Given the description of an element on the screen output the (x, y) to click on. 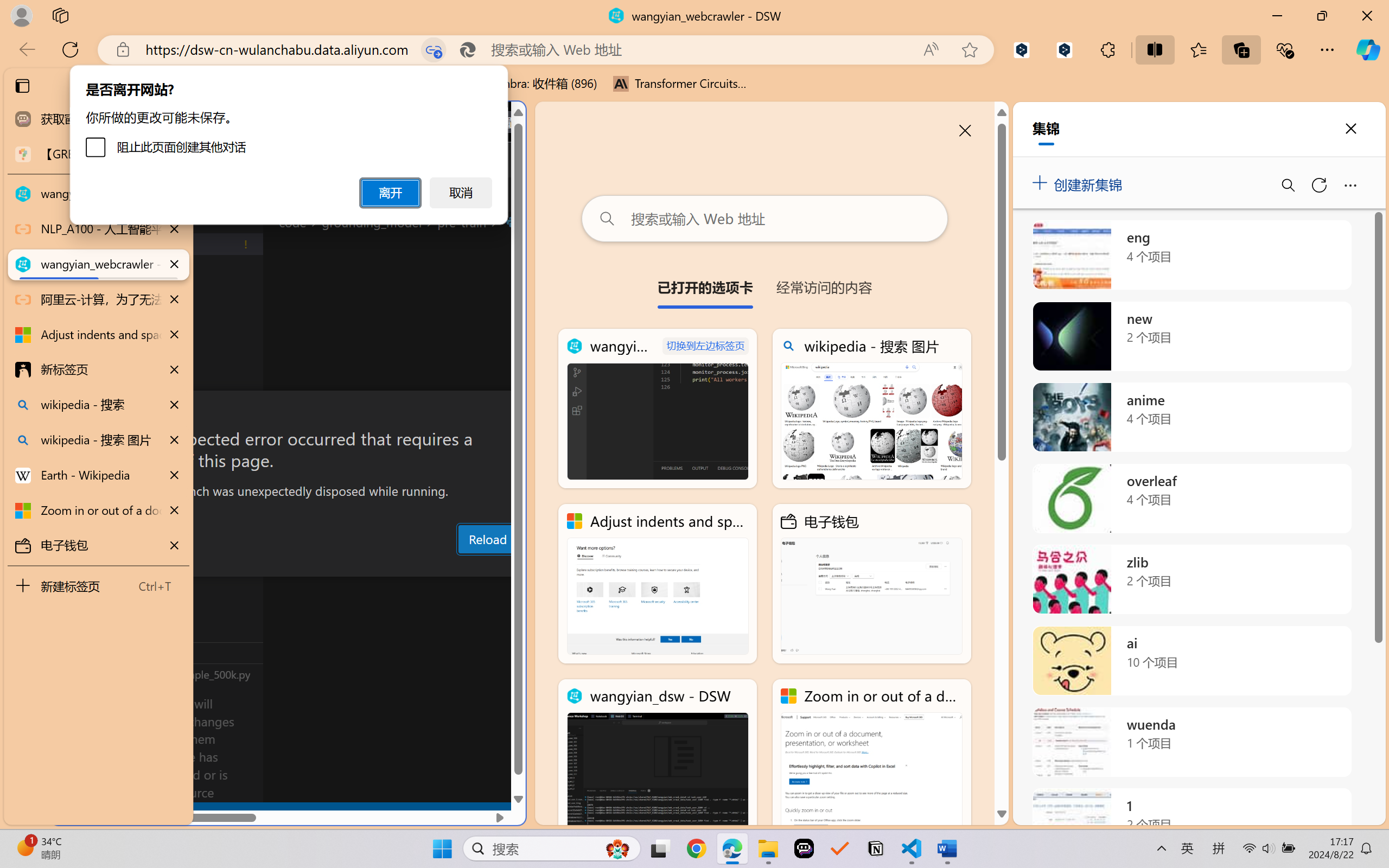
No Problems (115, 812)
Accounts - Sign in requested (73, 732)
Extensions (Ctrl+Shift+X) (73, 422)
Copilot (Ctrl+Shift+.) (1368, 49)
